Given the description of an element on the screen output the (x, y) to click on. 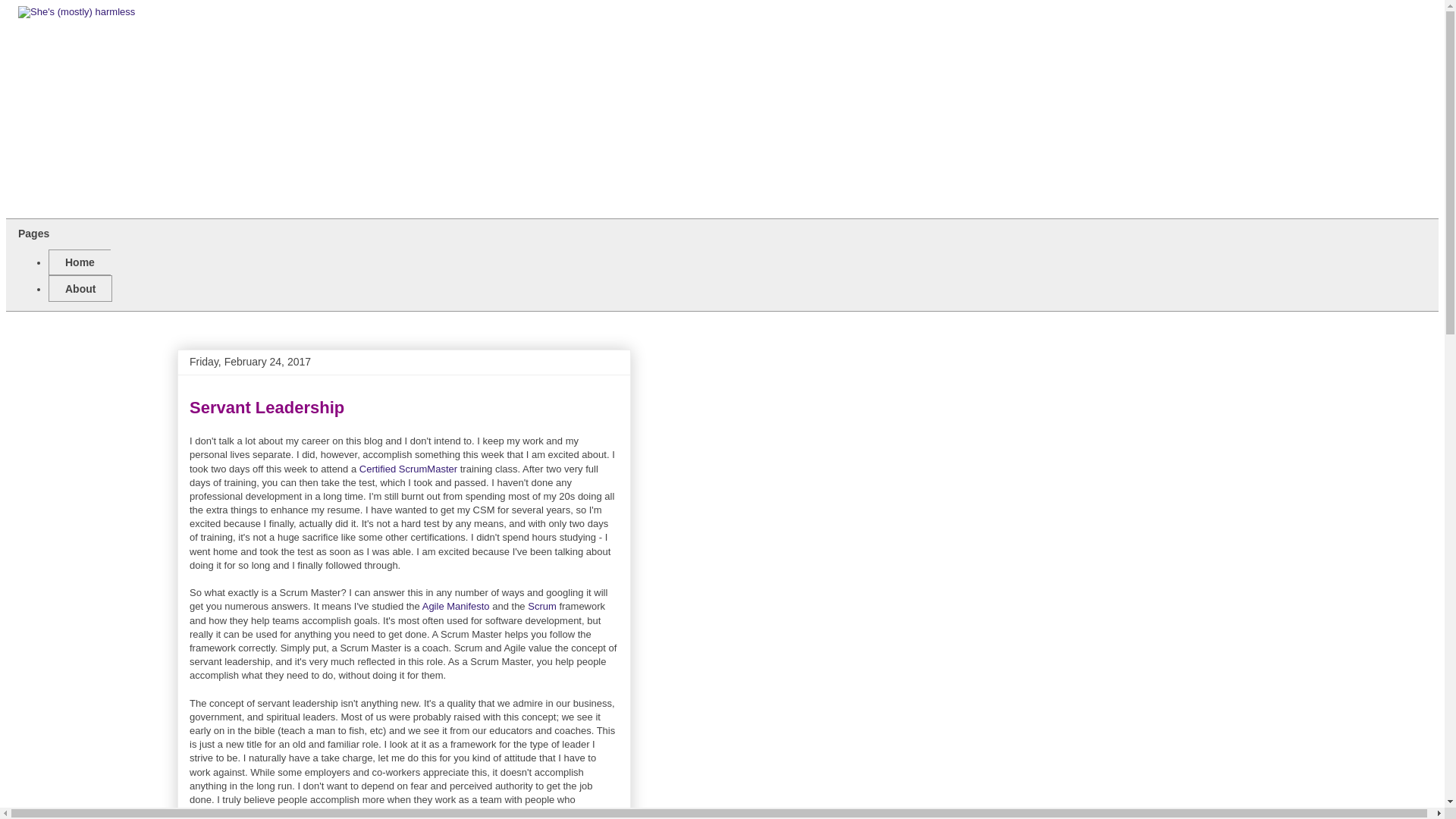
Agile Manifesto (455, 605)
About (80, 288)
Certified ScrumMaster (408, 469)
Home (79, 262)
Scrum (541, 605)
